Given the description of an element on the screen output the (x, y) to click on. 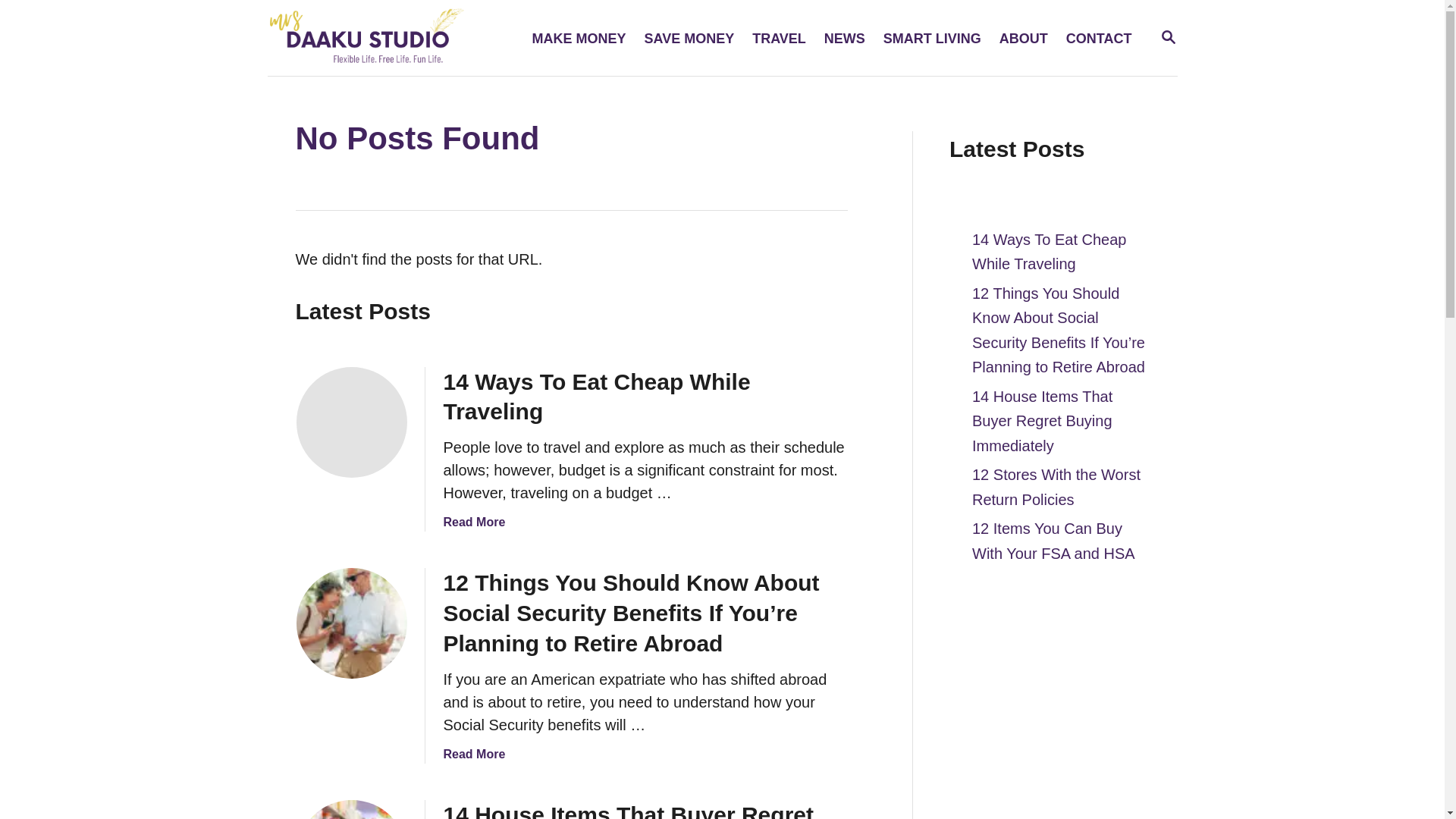
CONTACT (1099, 37)
NEWS (845, 37)
14 House Items That Buyer Regret Buying Immediately (350, 809)
14 Ways To Eat Cheap While Traveling (595, 396)
14 House Items That Buyer Regret Buying Immediately (473, 521)
MAKE MONEY (627, 810)
SAVE MONEY (578, 37)
SMART LIVING (688, 37)
MAGNIFYING GLASS (932, 37)
